Given the description of an element on the screen output the (x, y) to click on. 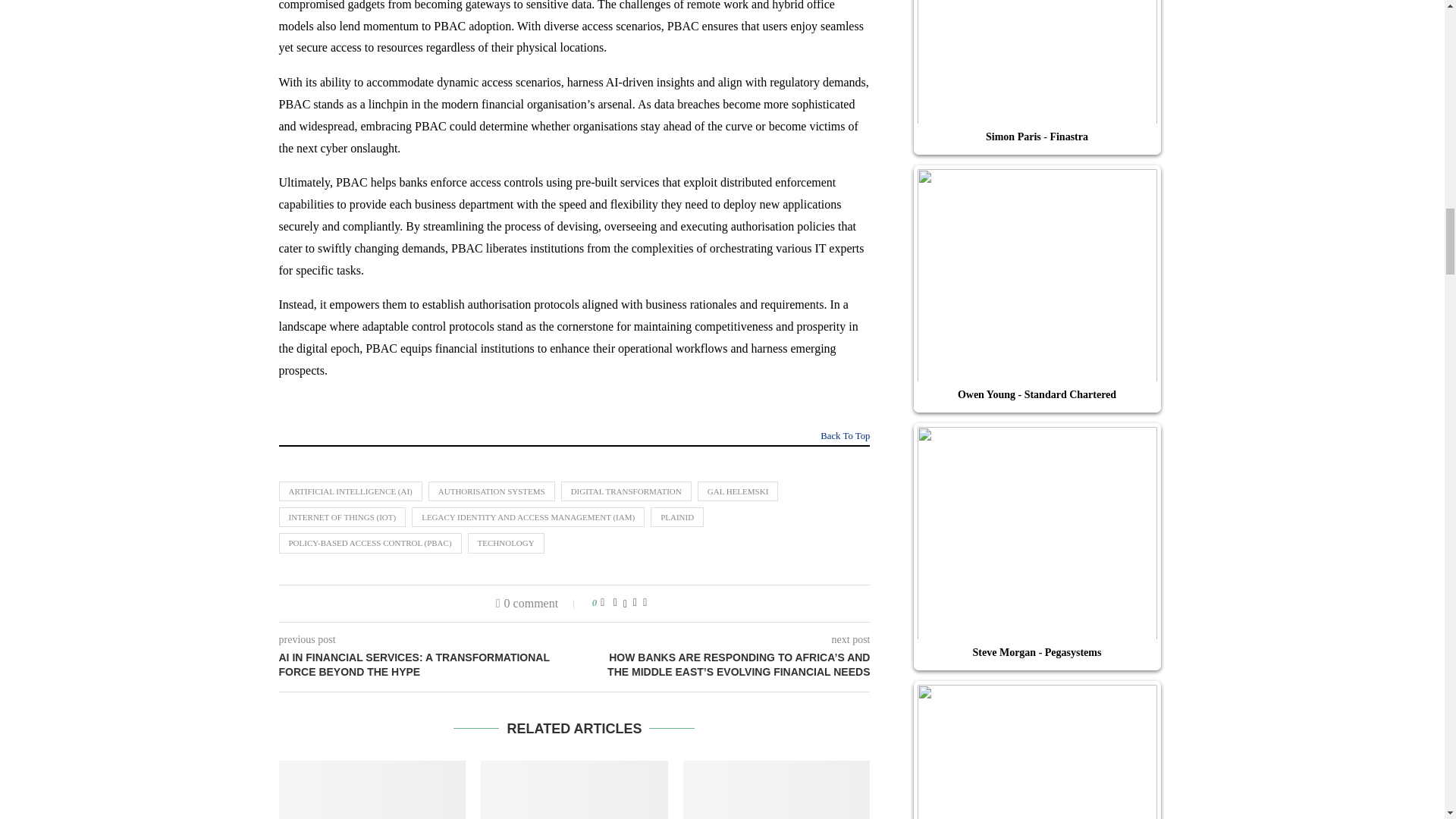
AUTHORISATION SYSTEMS (491, 491)
Lifting the Veil: Identifying Ultimate Beneficial Owners (372, 789)
DIGITAL TRANSFORMATION (625, 491)
Back To Top (845, 438)
GAL HELEMSKI (737, 491)
PLAINID (676, 516)
